Given the description of an element on the screen output the (x, y) to click on. 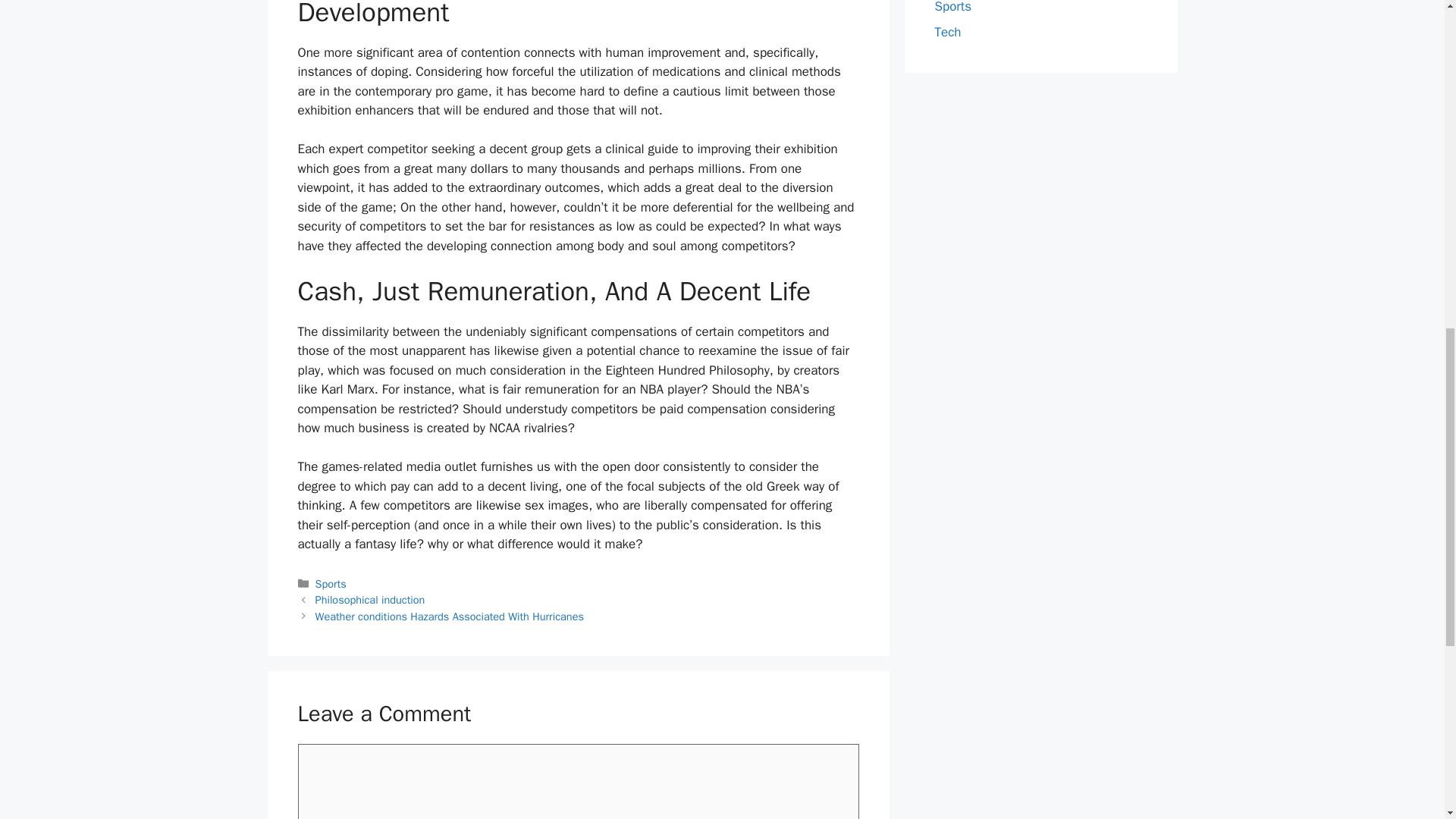
Sports (952, 7)
Philosophical induction (370, 599)
Tech (947, 32)
Sports (330, 583)
Weather conditions Hazards Associated With Hurricanes (449, 616)
